Given the description of an element on the screen output the (x, y) to click on. 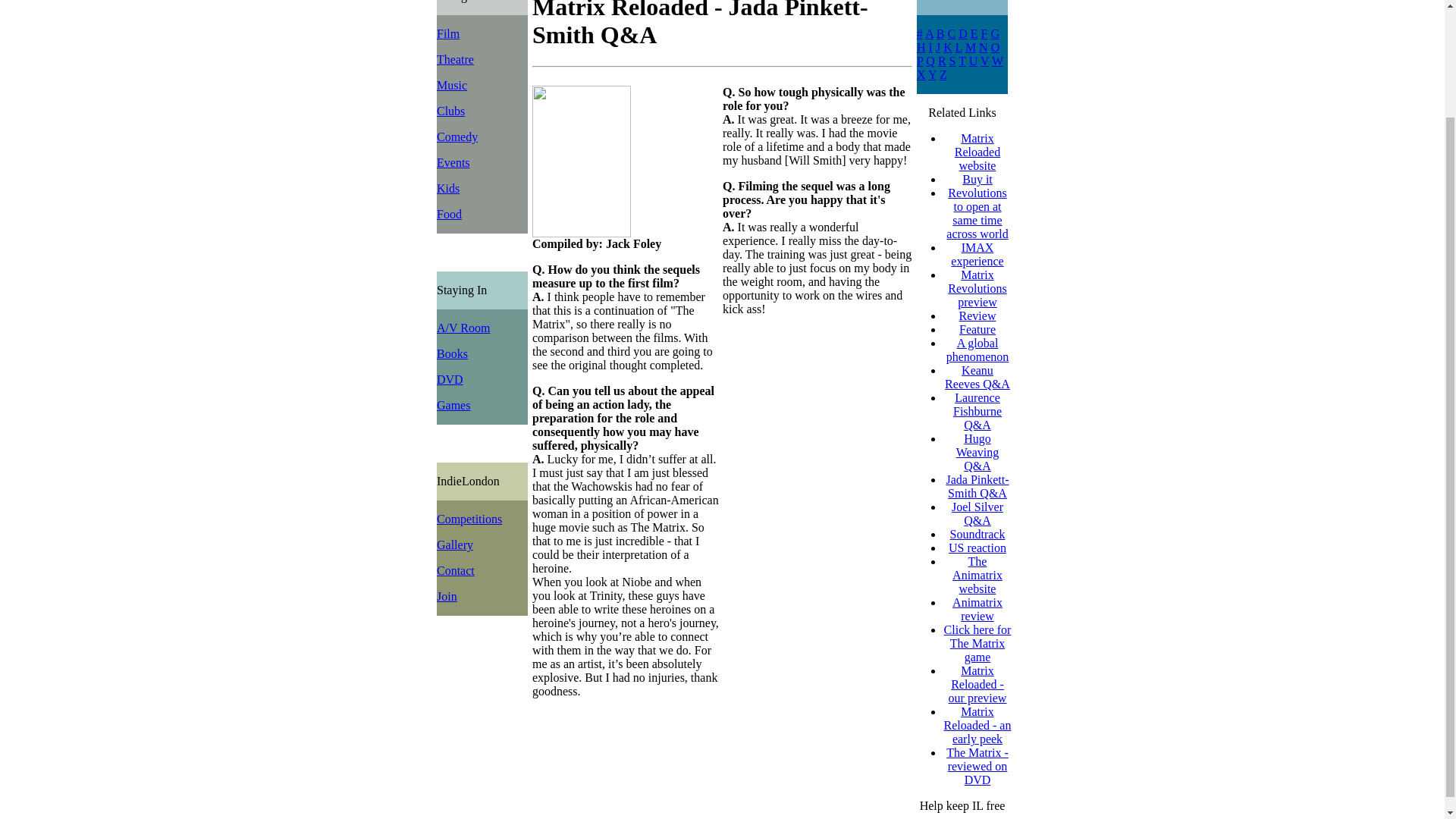
Food (448, 214)
Contact (455, 570)
Theatre (455, 59)
Books (451, 353)
DVD (449, 379)
Competitions (469, 518)
Music (451, 84)
Gallery (454, 544)
Games (453, 404)
Comedy (456, 136)
